Given the description of an element on the screen output the (x, y) to click on. 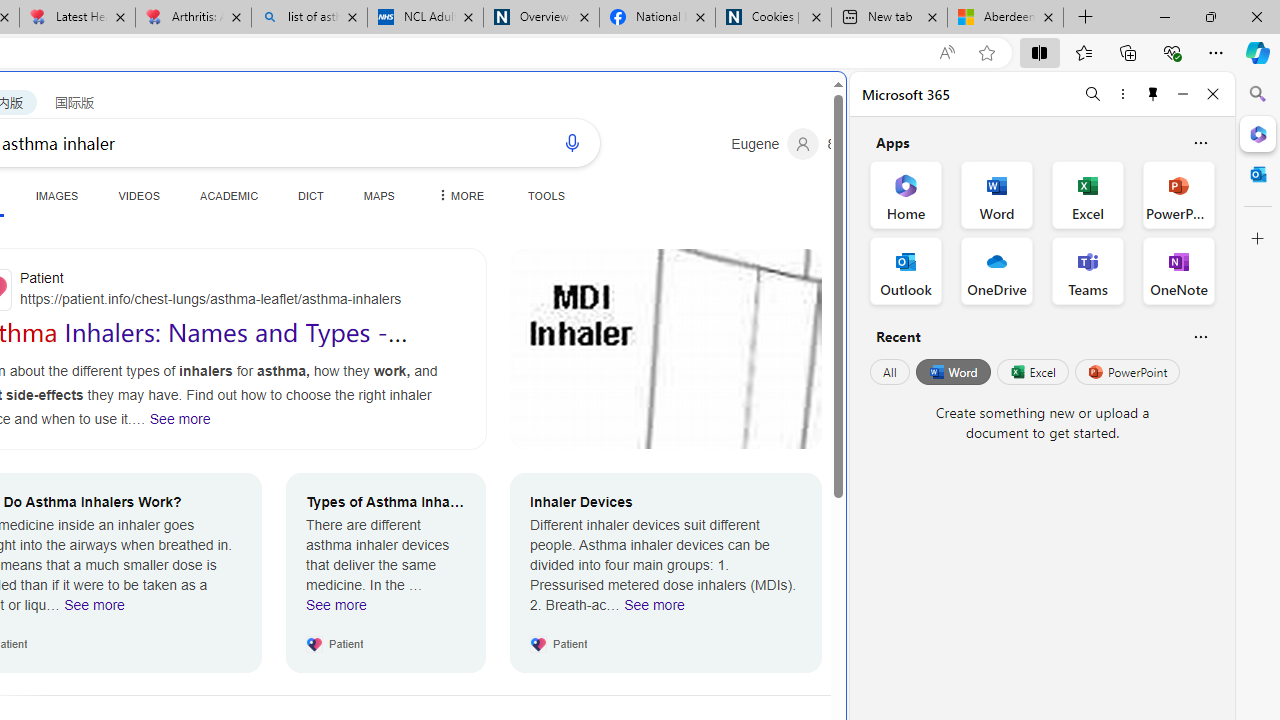
Word (952, 372)
PowerPoint Office App (1178, 194)
